Given the description of an element on the screen output the (x, y) to click on. 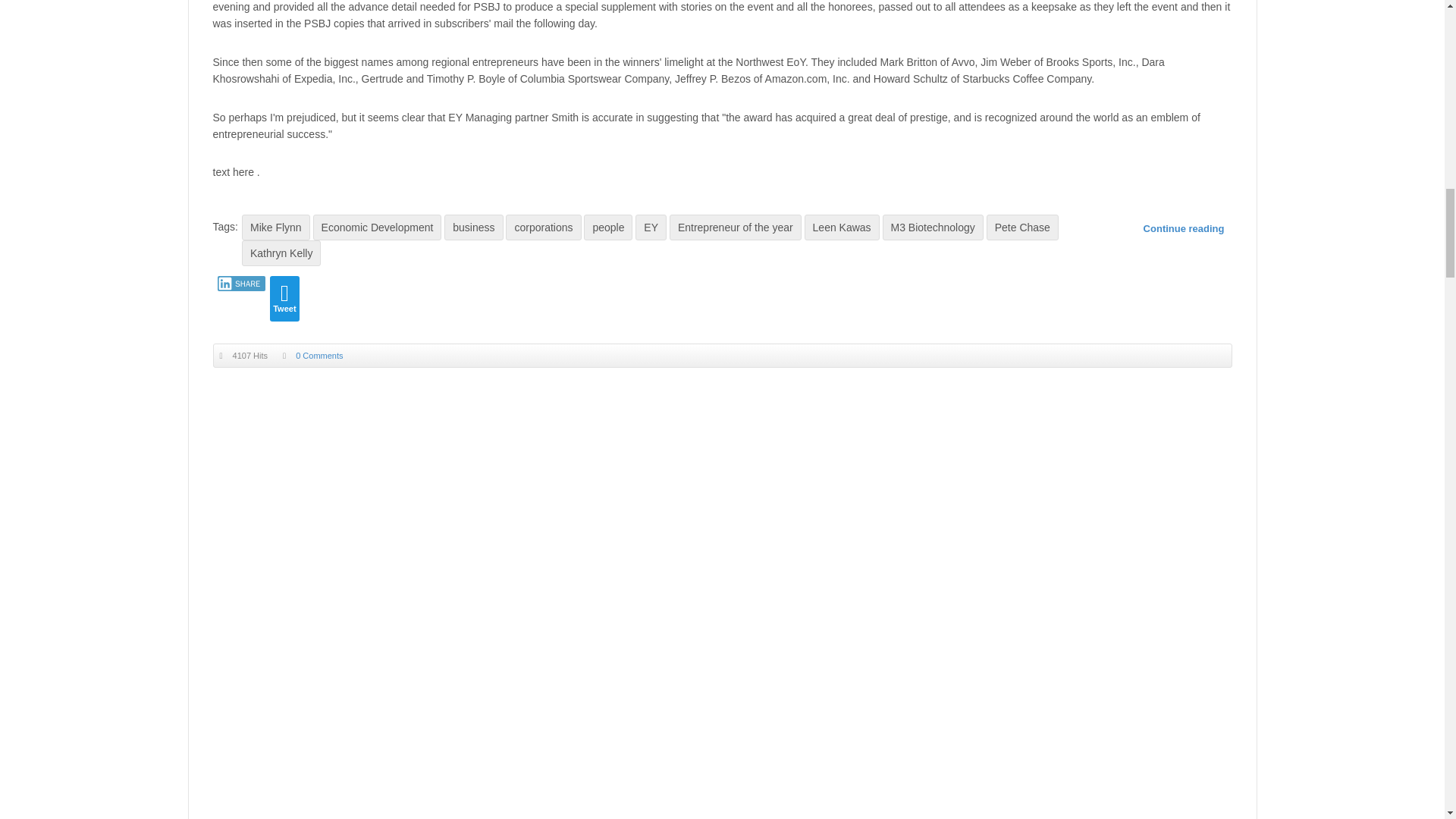
M3 Biotechnology (933, 227)
Entrepreneur of the year (735, 227)
Economic Development (377, 227)
Continue reading (1183, 228)
corporations (542, 227)
Mike Flynn (275, 227)
SHARE (240, 283)
Pete Chase (1022, 227)
EY (650, 227)
Leen Kawas (842, 227)
Kathryn Kelly (280, 253)
0 Comments (318, 355)
business (473, 227)
people (607, 227)
